Given the description of an element on the screen output the (x, y) to click on. 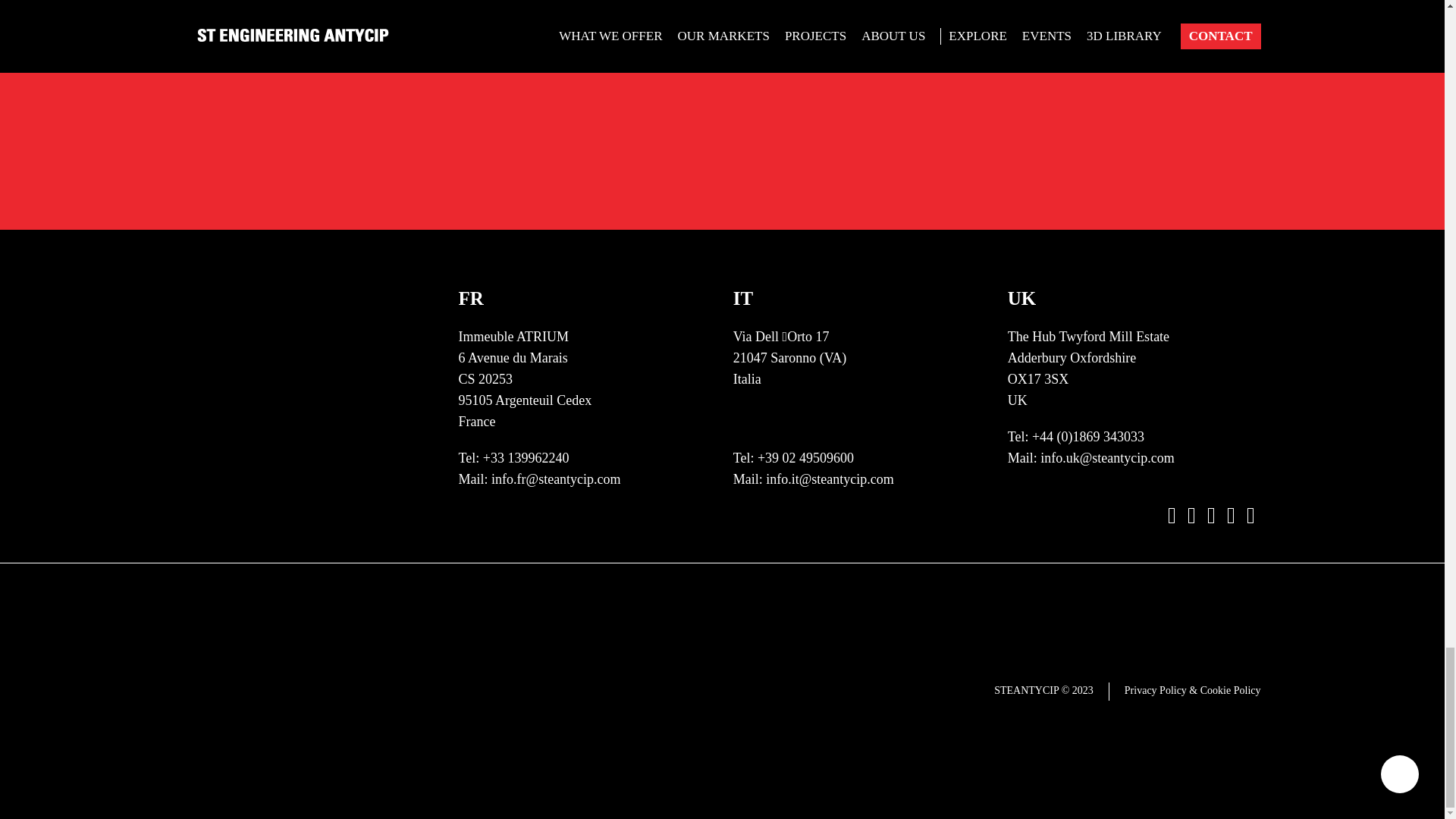
logo techviz white no background (859, 215)
Digital-Projection-Logo-white no background (859, 745)
logo-middlevr-web-white - Copy (648, 366)
ScalableDisplayTechnologies Logo - Copy (859, 594)
